Given the description of an element on the screen output the (x, y) to click on. 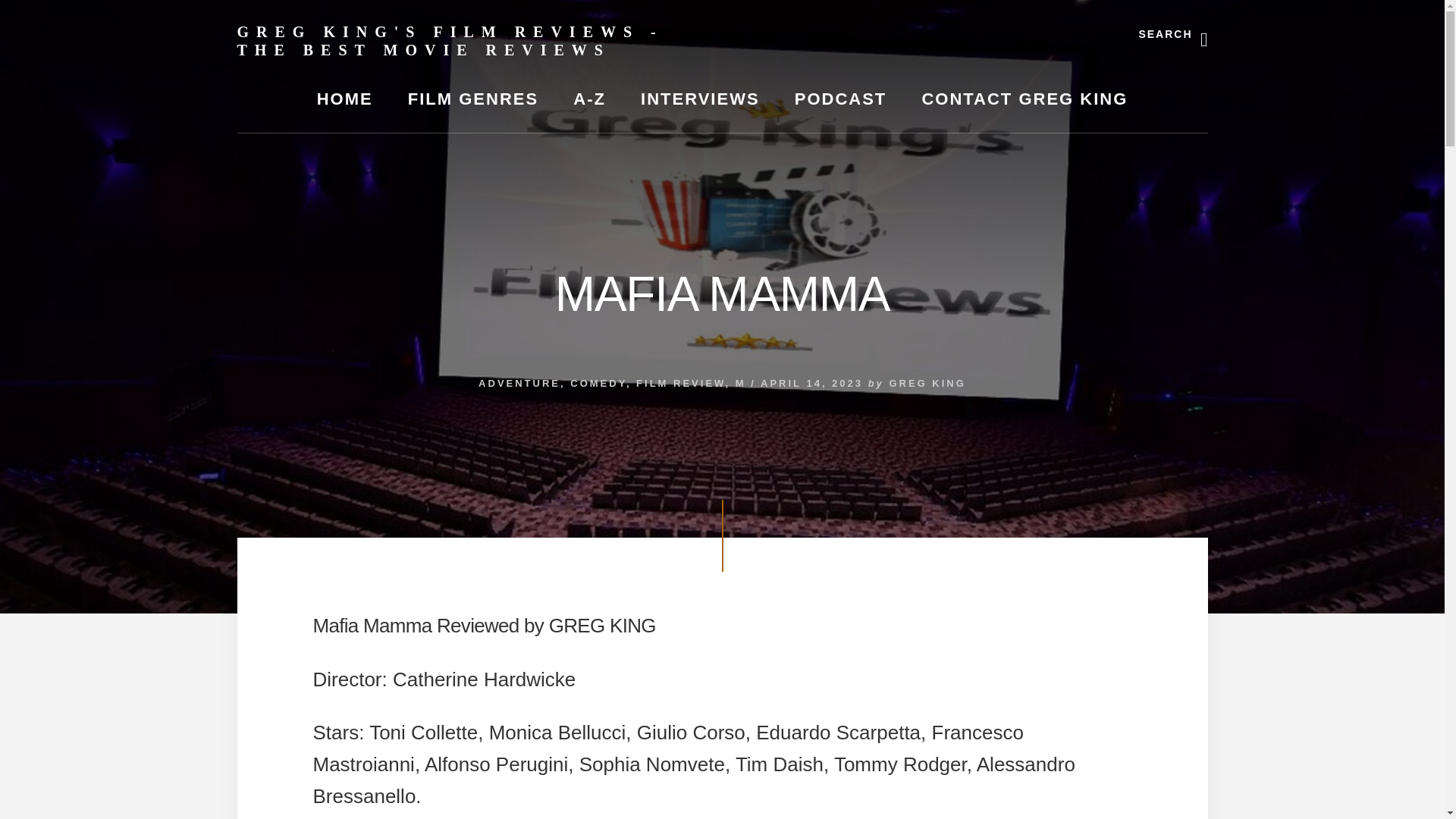
FILM GENRES (473, 99)
GREG KING'S FILM REVIEWS - THE BEST MOVIE REVIEWS (448, 40)
HOME (344, 99)
A-Z (589, 99)
